Given the description of an element on the screen output the (x, y) to click on. 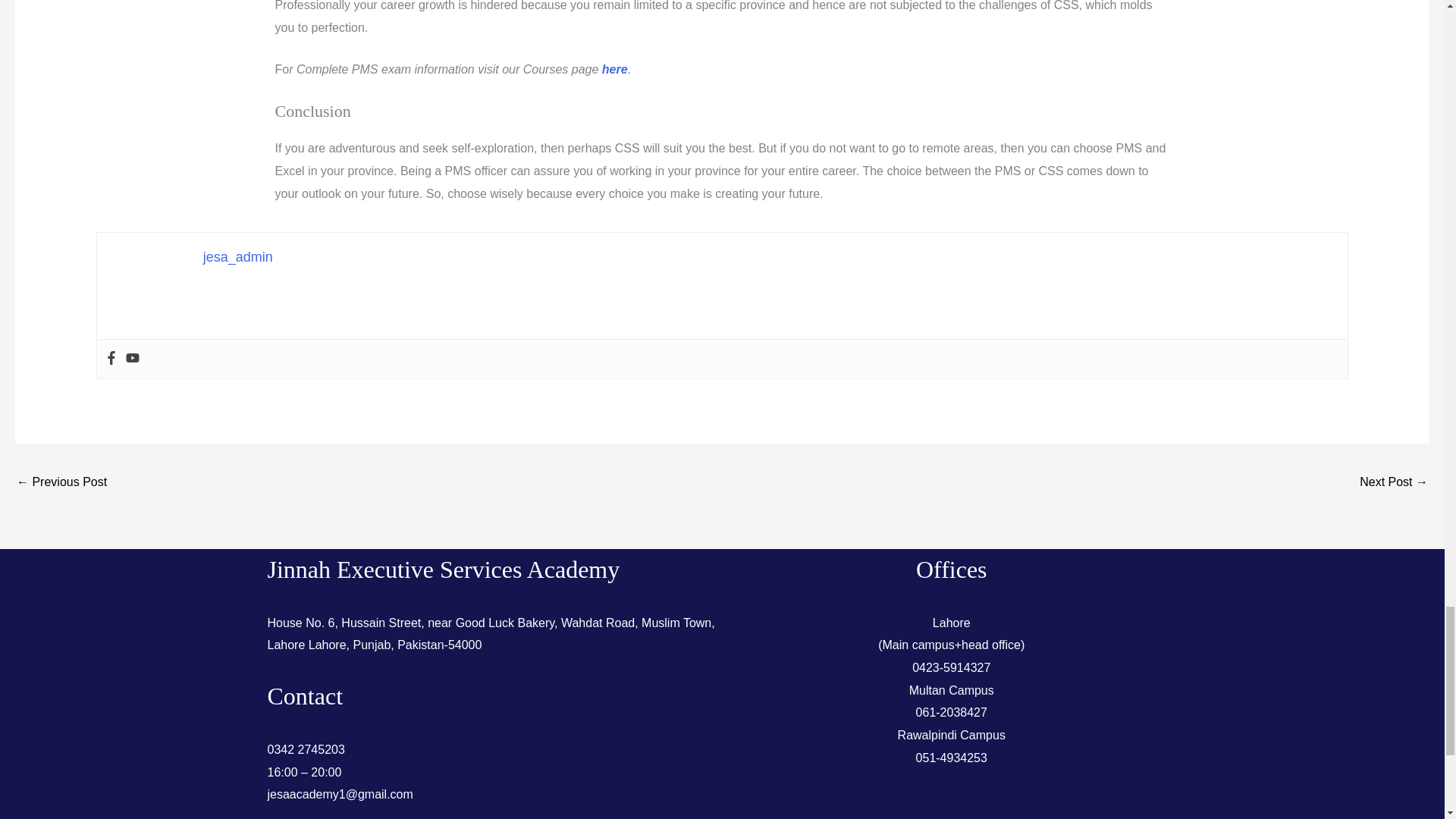
Ultimate Guide to CSS Exam Preparation: Tips and Strategies (61, 483)
PMS Exam Study Strategies: What Works and What Doesn't (1393, 483)
here (614, 69)
